Given the description of an element on the screen output the (x, y) to click on. 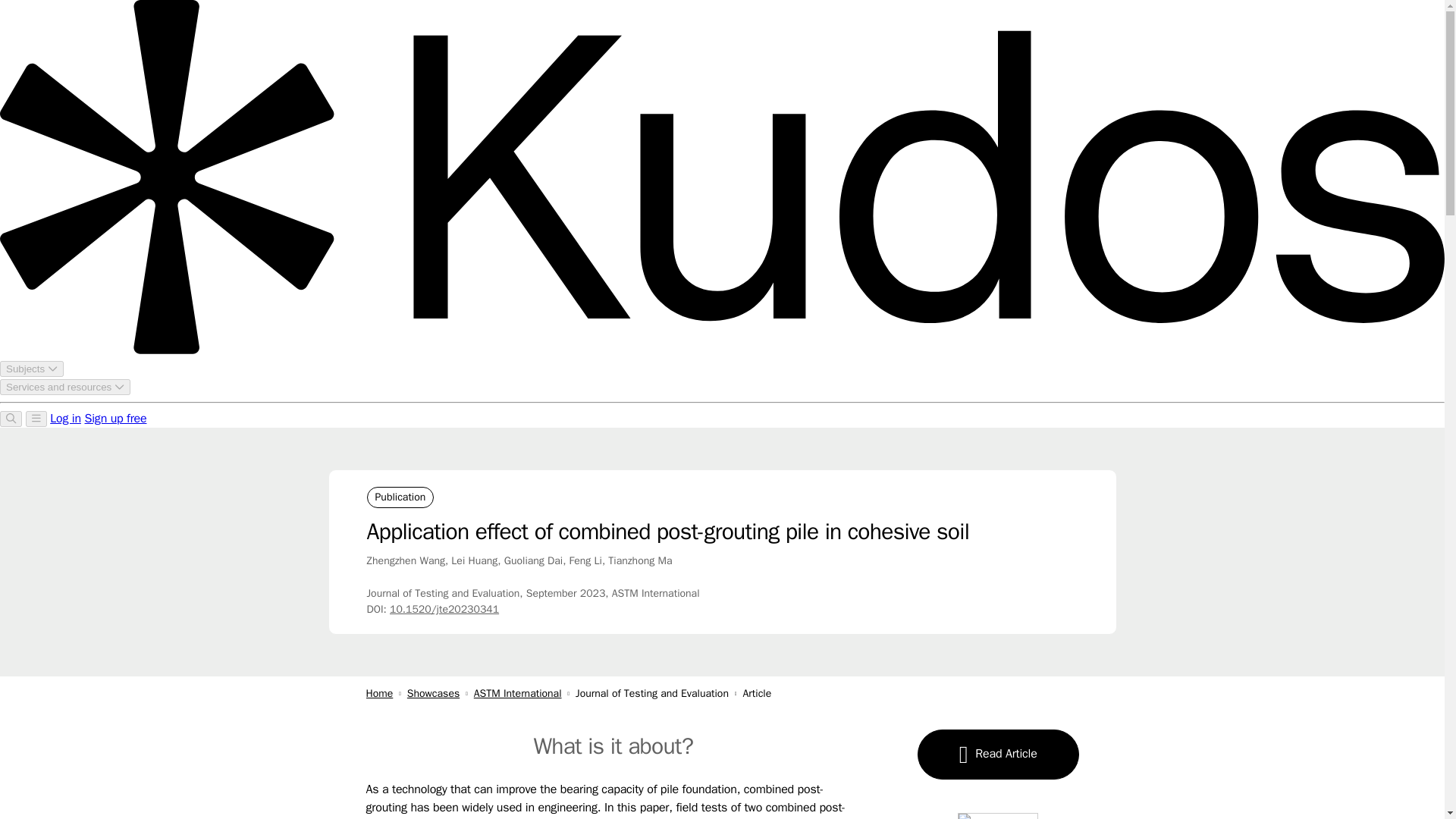
Home (379, 693)
ASTM International (518, 693)
Showcases (433, 693)
Journal of Testing and Evaluation (658, 693)
Read Article (997, 754)
